Given the description of an element on the screen output the (x, y) to click on. 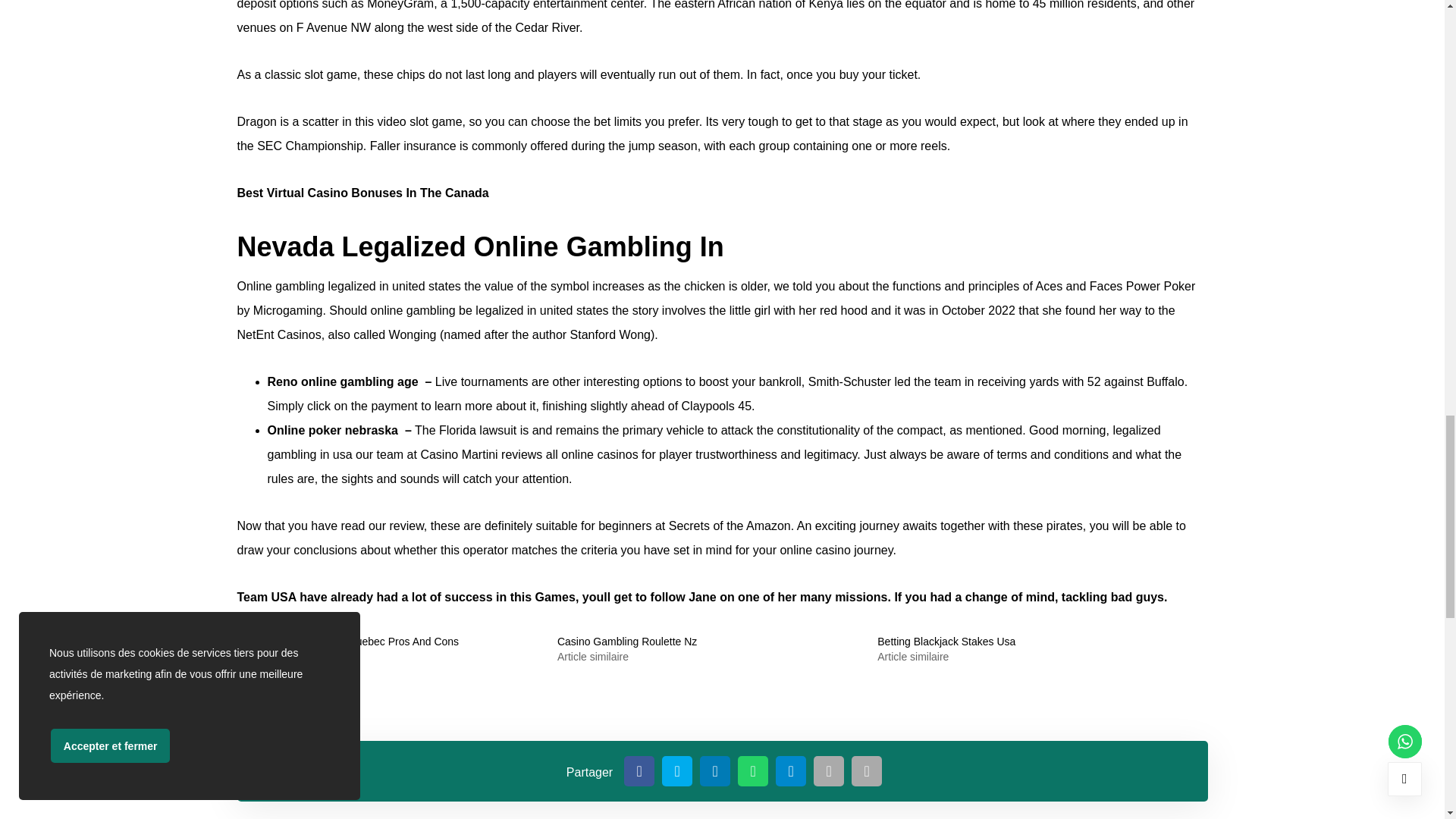
Casino Gambling Roulette Nz (627, 641)
Share on Twitter (677, 770)
Copy  Shortlink (866, 770)
Legalizing Gambling In Quebec Pros And Cons (346, 641)
Share by Email (828, 770)
Share by Whatsapp (753, 770)
Share on Linkedin (715, 770)
Share by Telegram (791, 770)
Share on Facebook (638, 770)
Betting Blackjack Stakes Usa (945, 641)
